Given the description of an element on the screen output the (x, y) to click on. 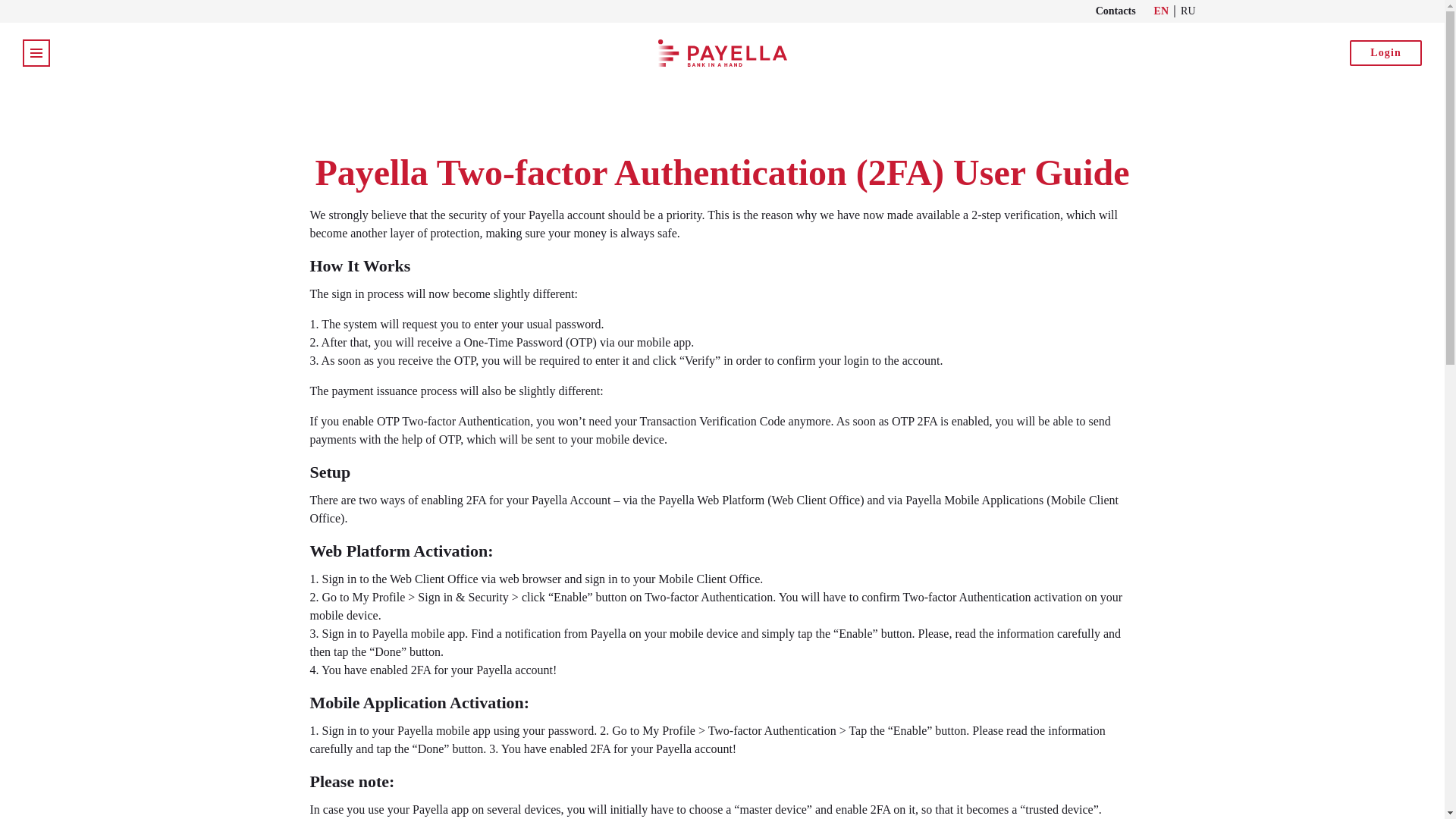
Login (1385, 53)
RU (1187, 10)
Contacts (1115, 10)
